Given the description of an element on the screen output the (x, y) to click on. 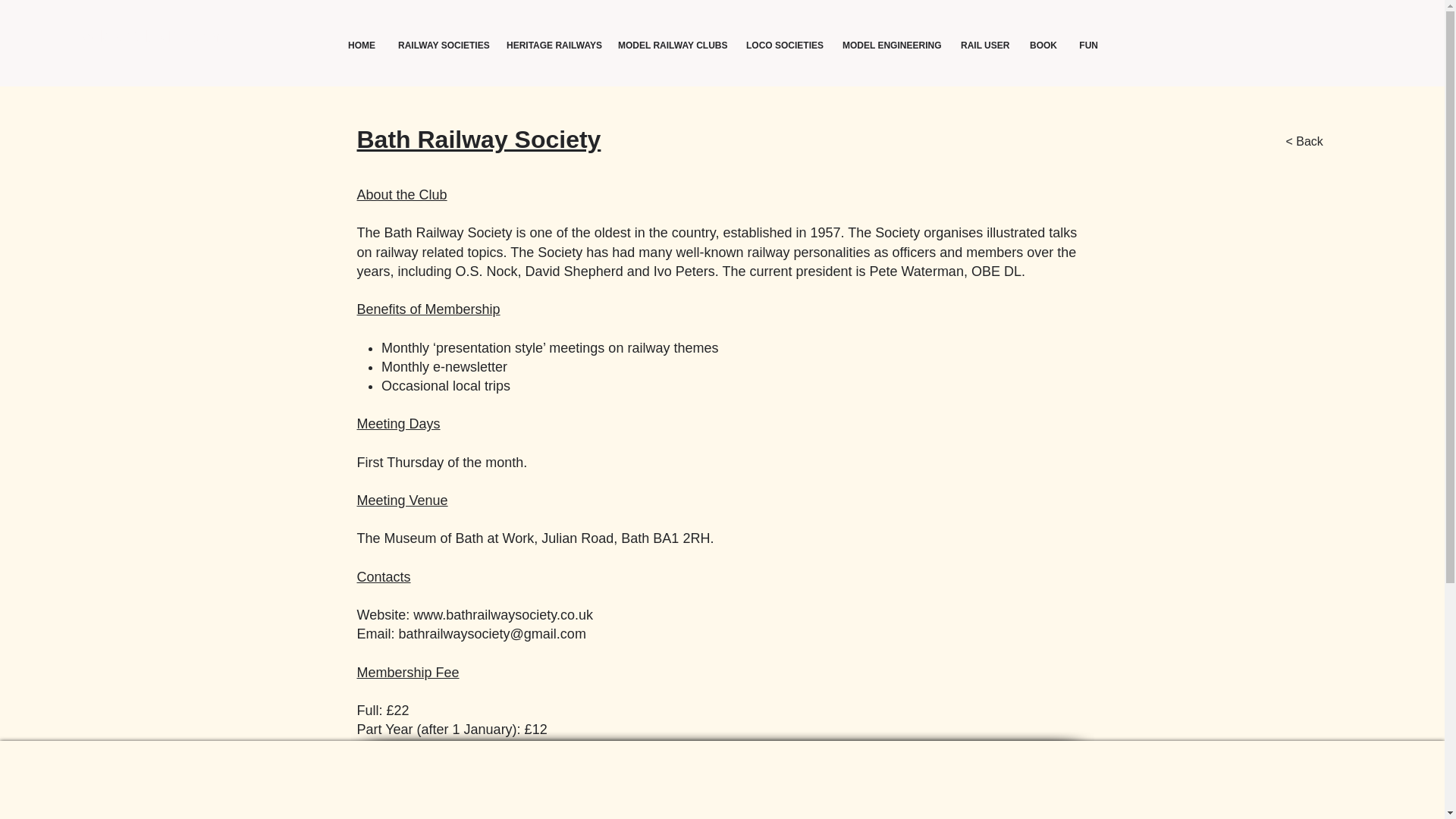
BOOK (1042, 45)
MODEL RAILWAY CLUBS (669, 45)
Railway Club Directory (151, 36)
RAILWAY SOCIETIES (440, 45)
HOME (360, 45)
HERITAGE RAILWAYS (550, 45)
RAIL USER (983, 45)
FUN (1088, 45)
www.bathrailwaysociety.co.uk (502, 614)
MODEL ENGINEERING (889, 45)
